Given the description of an element on the screen output the (x, y) to click on. 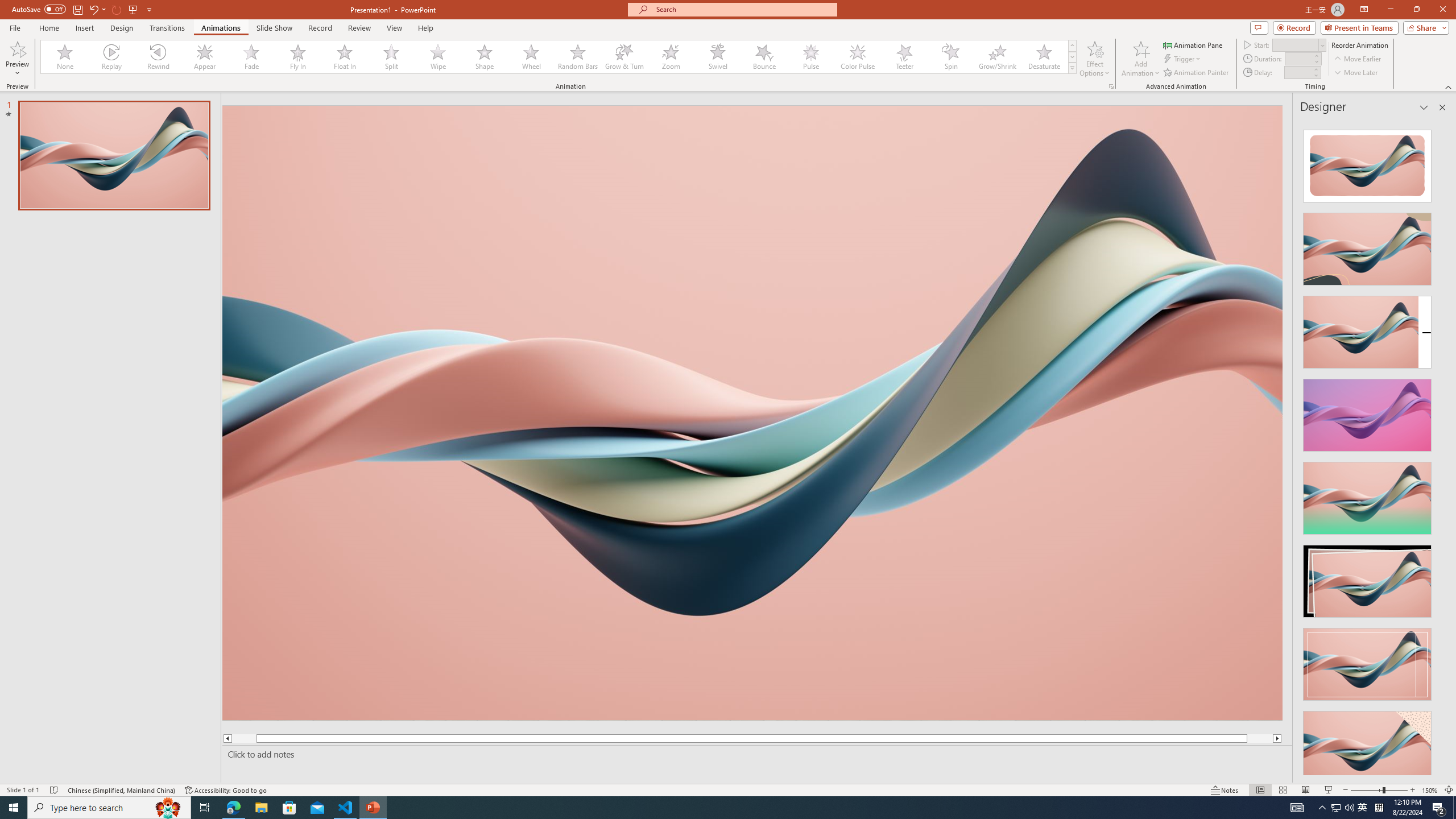
Desaturate (1043, 56)
Grow/Shrink (997, 56)
Move Later (1355, 72)
Appear (205, 56)
Move Earlier (1357, 58)
